Given the description of an element on the screen output the (x, y) to click on. 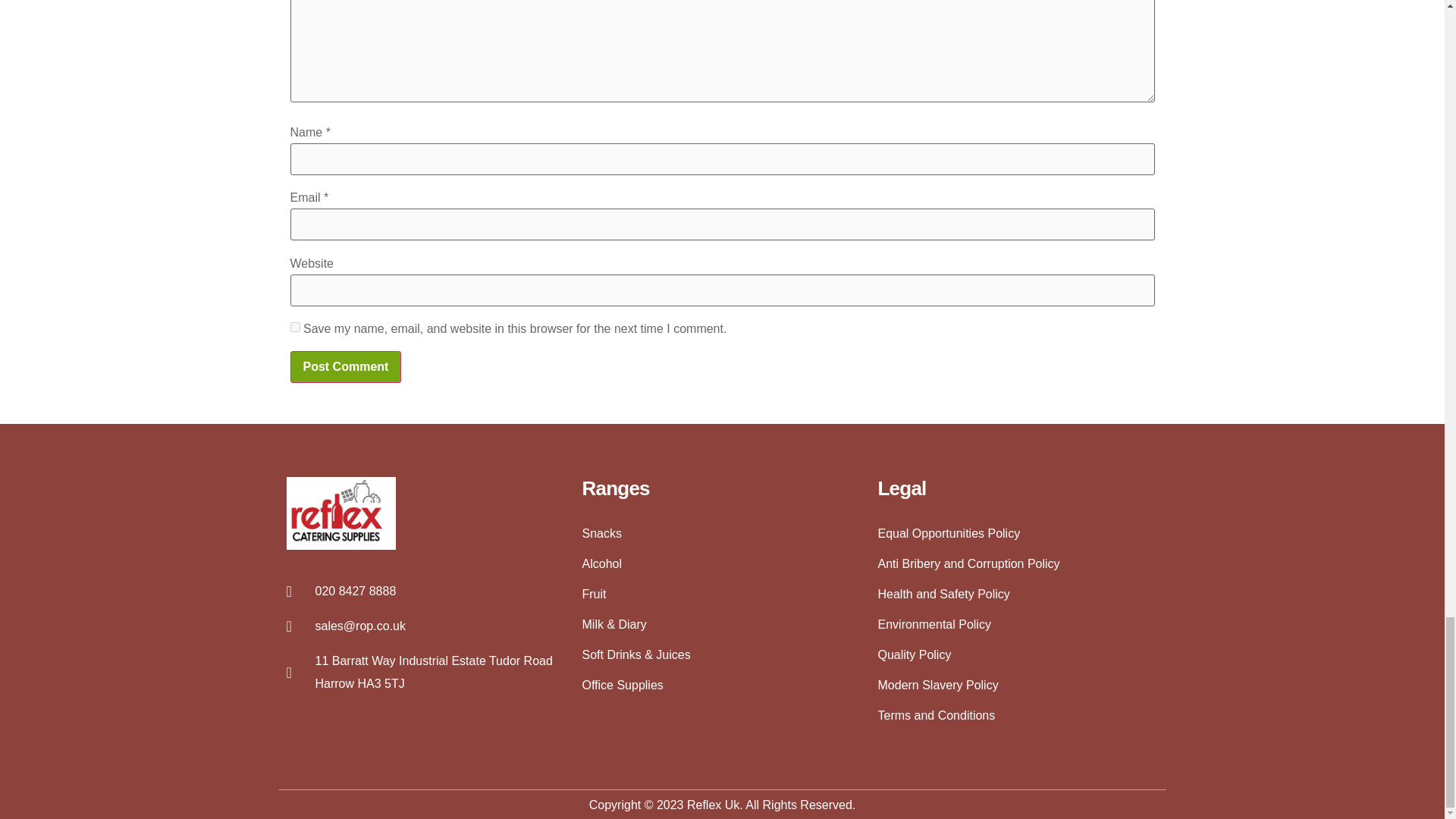
Post Comment (345, 367)
020 8427 8888 (426, 590)
Post Comment (345, 367)
yes (294, 327)
